Given the description of an element on the screen output the (x, y) to click on. 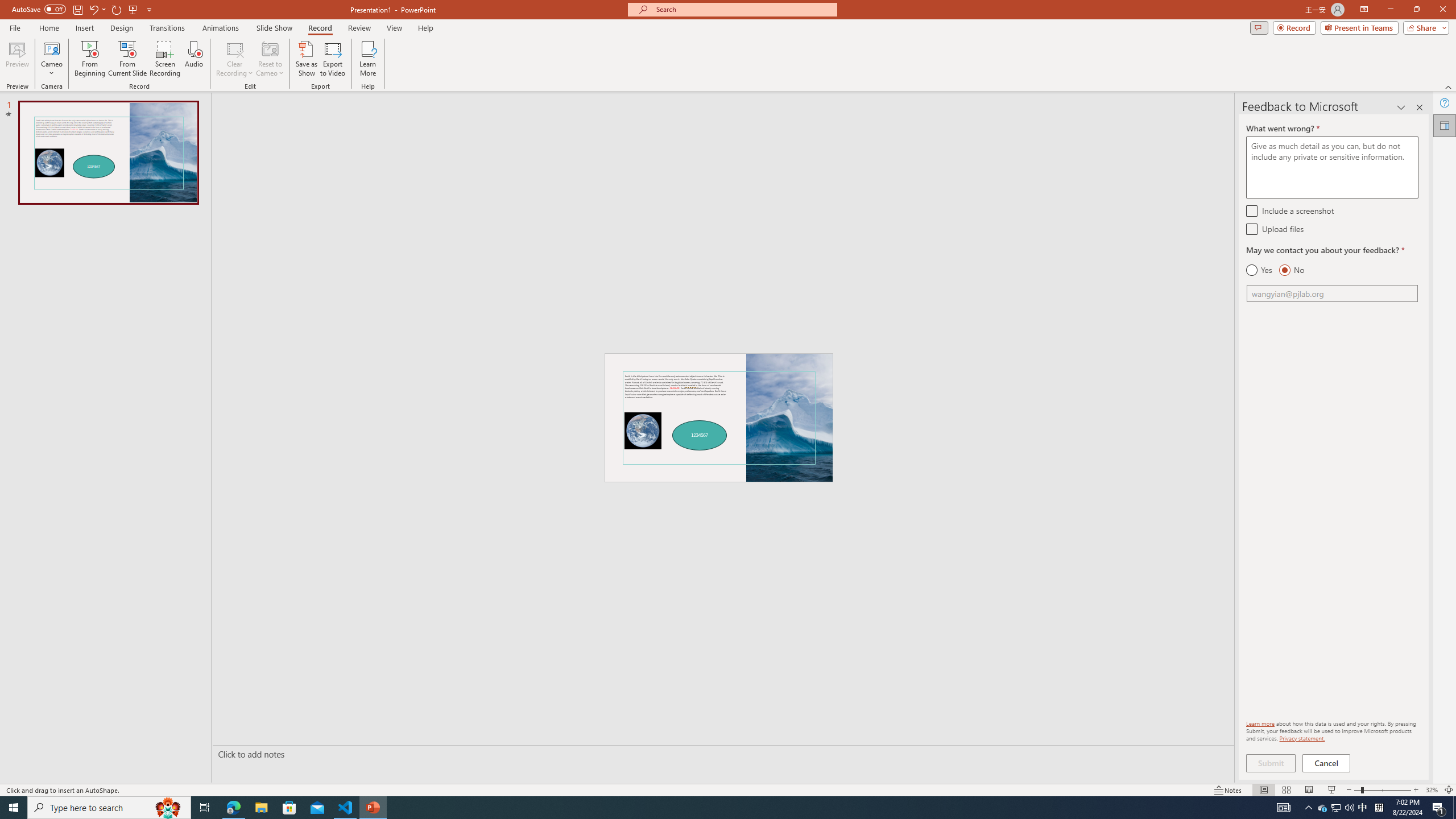
Email (1332, 293)
Privacy statement. (1301, 738)
